Given the description of an element on the screen output the (x, y) to click on. 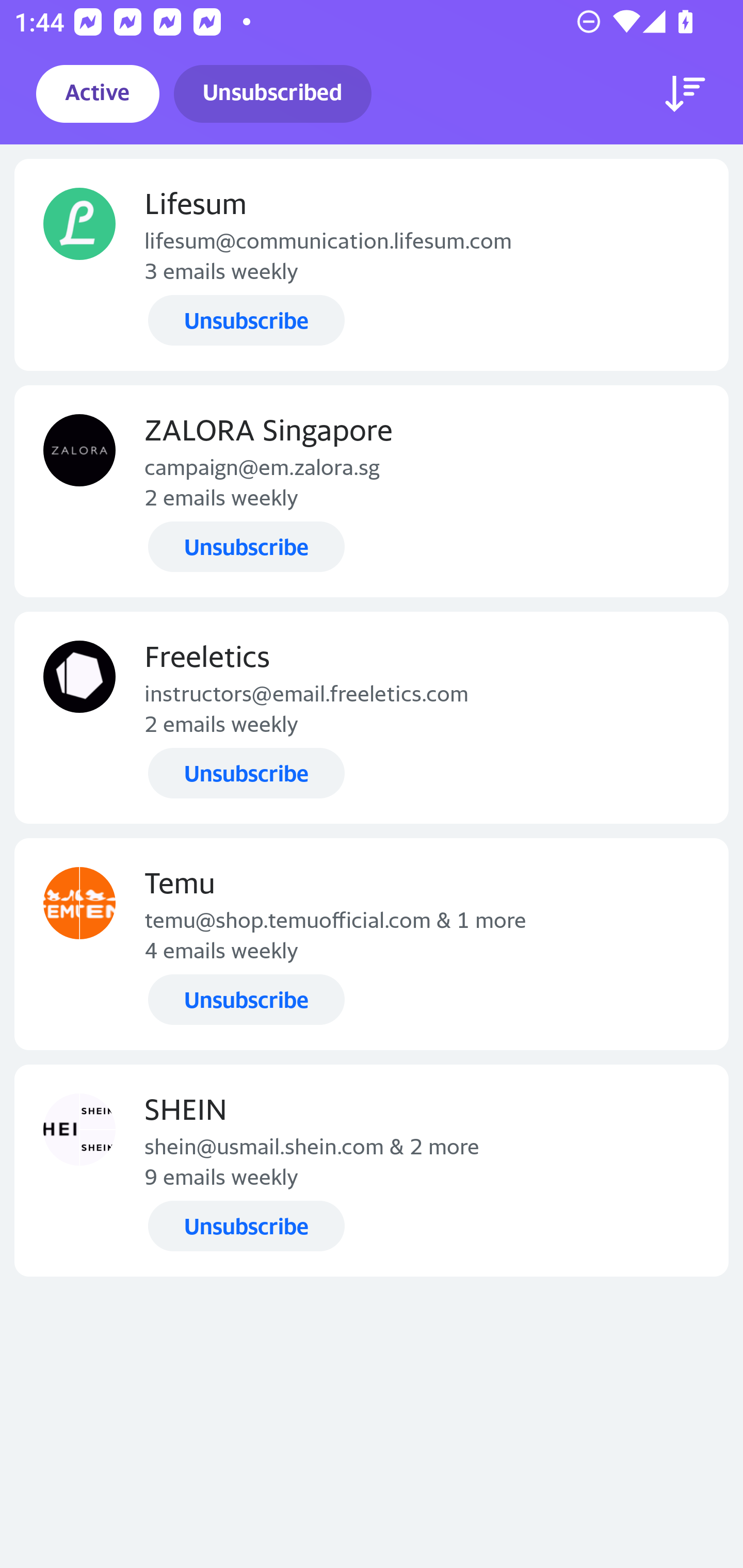
Unsubscribed (272, 93)
Sort (684, 93)
Unsubscribe (245, 319)
Unsubscribe (245, 547)
Unsubscribe (245, 772)
Unsubscribe (245, 999)
Unsubscribe (245, 1226)
